Given the description of an element on the screen output the (x, y) to click on. 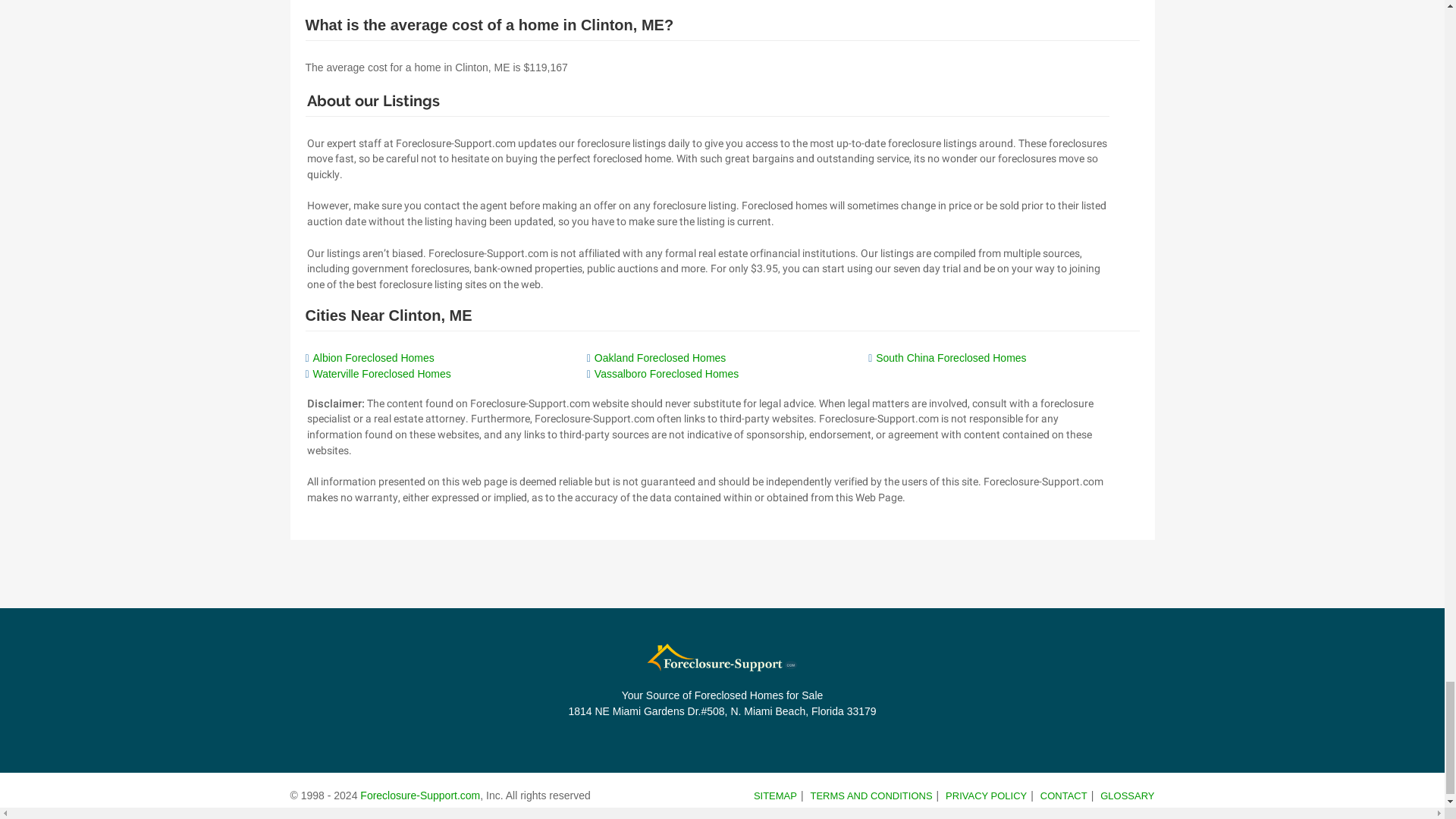
Vassalboro (666, 372)
South China (951, 357)
Albion (373, 357)
Oakland (660, 357)
Waterville (381, 372)
